Given the description of an element on the screen output the (x, y) to click on. 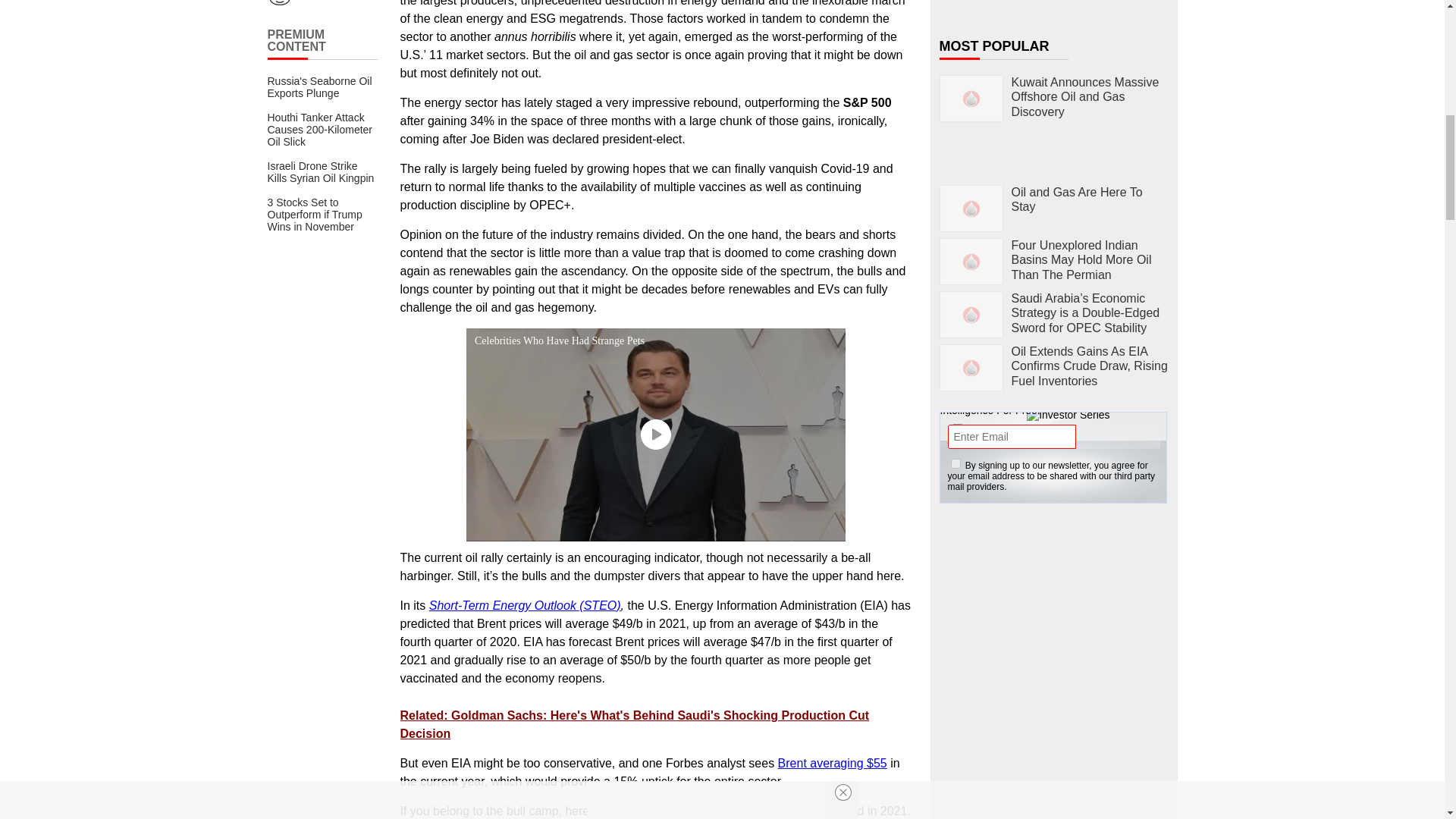
3rd party ad content (1053, 610)
1 (955, 463)
